Given the description of an element on the screen output the (x, y) to click on. 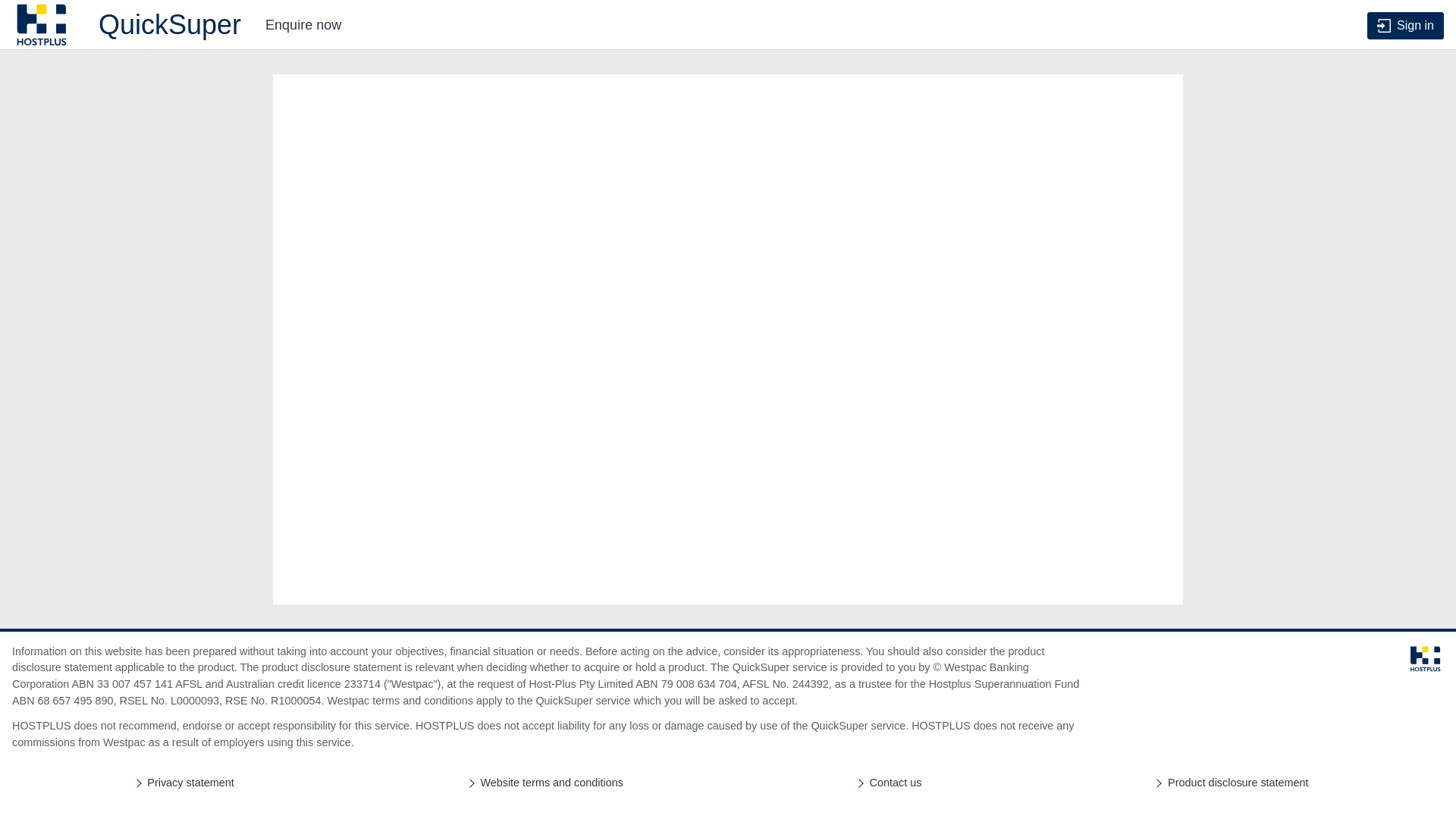
Product disclosure statement Element type: text (1237, 782)
Privacy statement Element type: text (190, 782)
QuickSuper Element type: text (126, 25)
Website terms and conditions Element type: text (551, 782)
Enquire now Element type: text (303, 25)
Contact us Element type: text (895, 782)
